Given the description of an element on the screen output the (x, y) to click on. 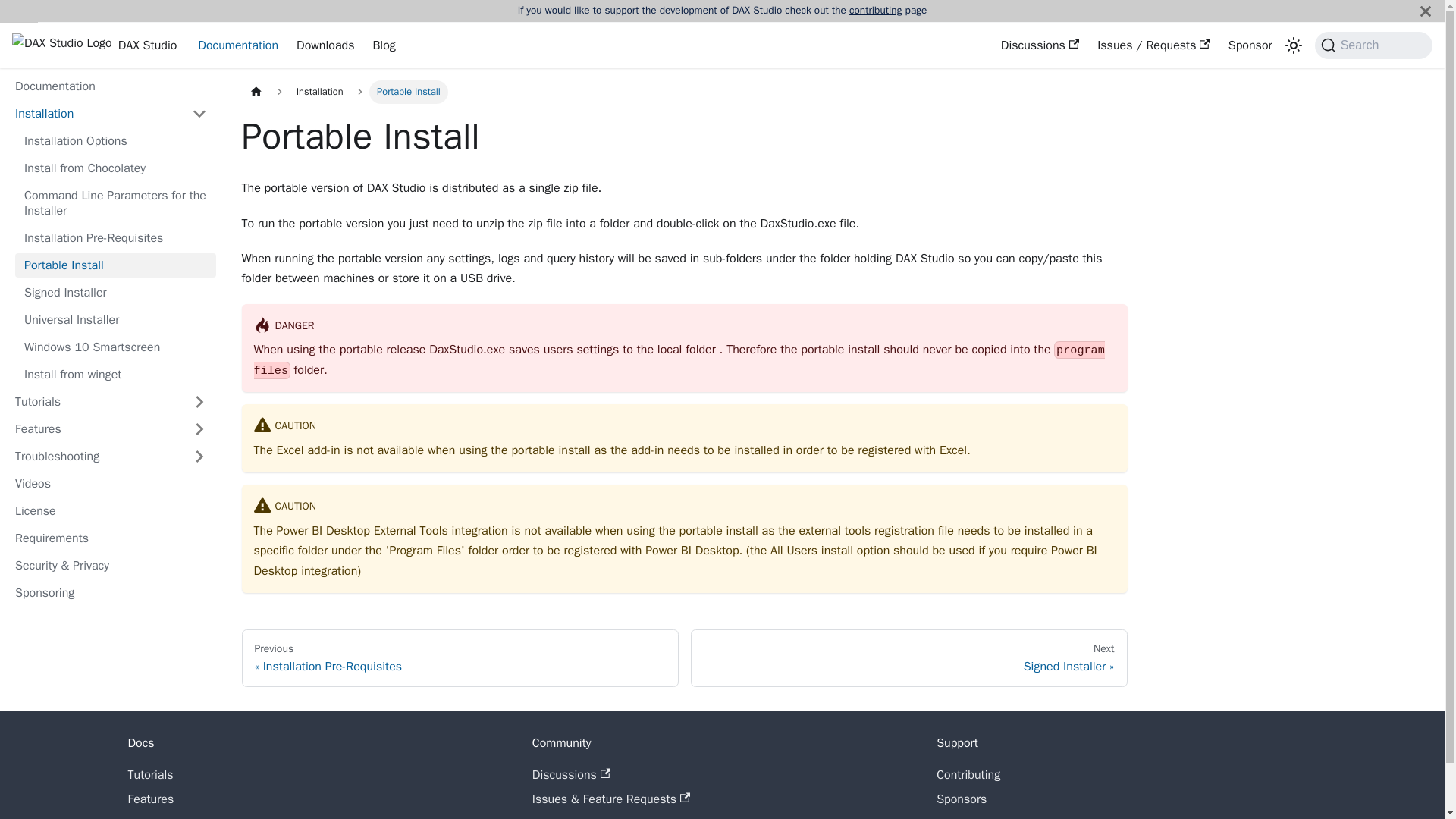
Requirements (110, 538)
Discussions (1039, 45)
Universal Installer (114, 319)
Install from Chocolatey (114, 168)
Sponsoring (110, 592)
Install from winget (114, 374)
Documentation (237, 45)
Signed Installer (114, 292)
Installation (319, 92)
Portable Install (114, 265)
